Given the description of an element on the screen output the (x, y) to click on. 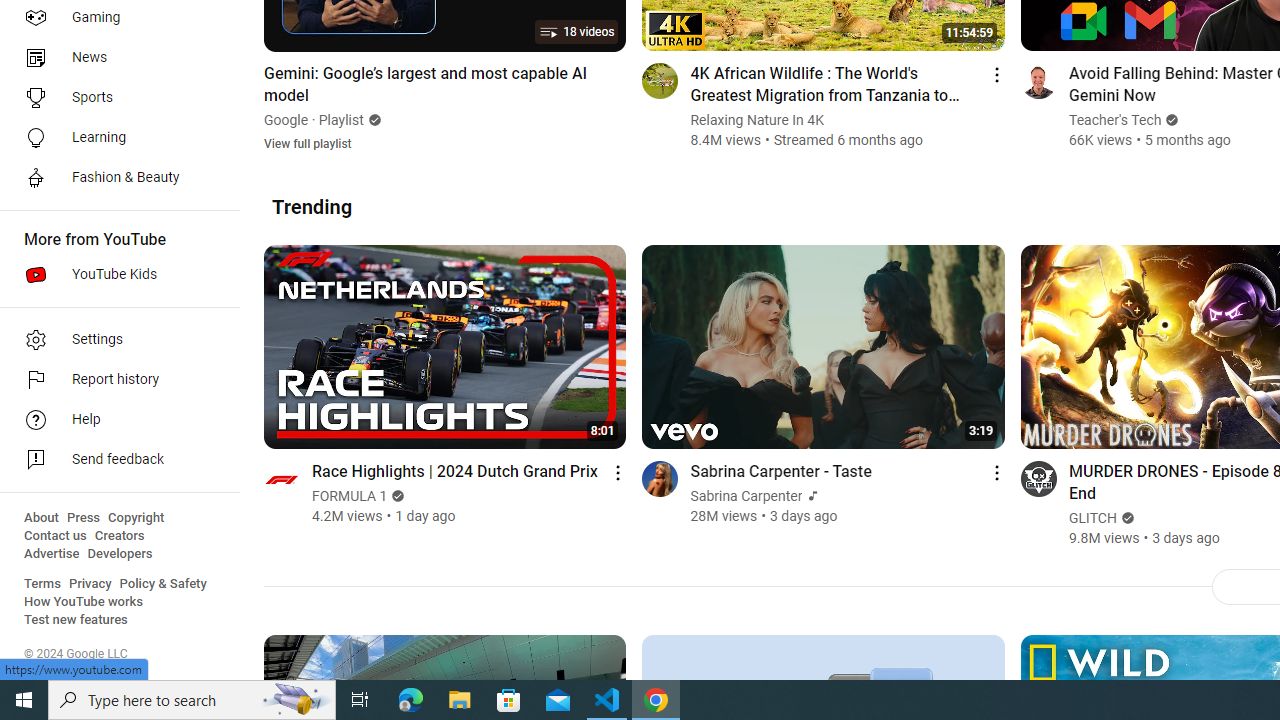
Report history (113, 380)
Policy & Safety (163, 584)
Learning (113, 137)
Help (113, 419)
Teacher's Tech (1115, 120)
Test new features (76, 620)
Terms (42, 584)
Verified (1125, 518)
Developers (120, 554)
Sports (113, 97)
Action menu (996, 472)
Contact us (55, 536)
Go to channel (1038, 478)
How YouTube works (83, 602)
